Given the description of an element on the screen output the (x, y) to click on. 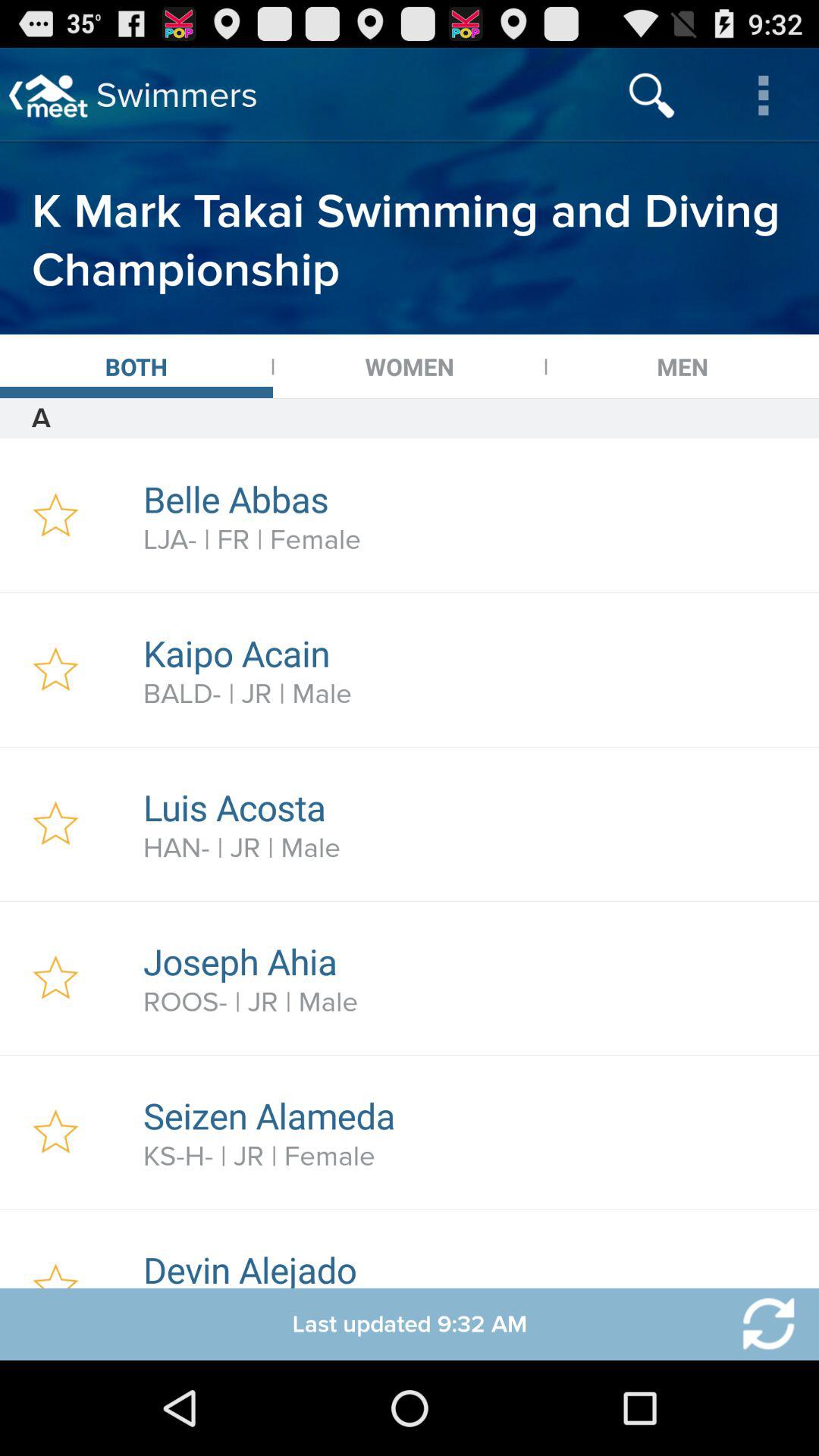
this option was favourite button (55, 978)
